Given the description of an element on the screen output the (x, y) to click on. 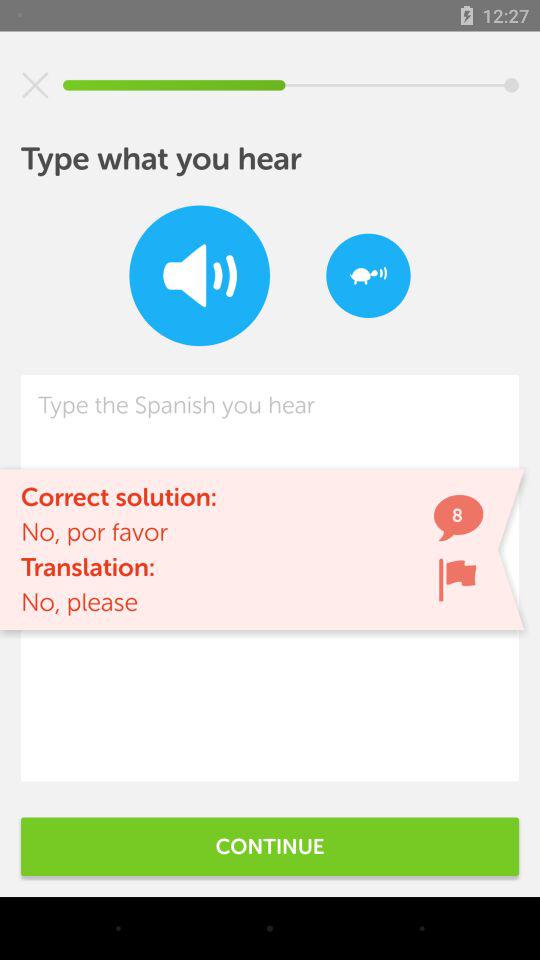
select the icon at the top right corner (368, 275)
